Given the description of an element on the screen output the (x, y) to click on. 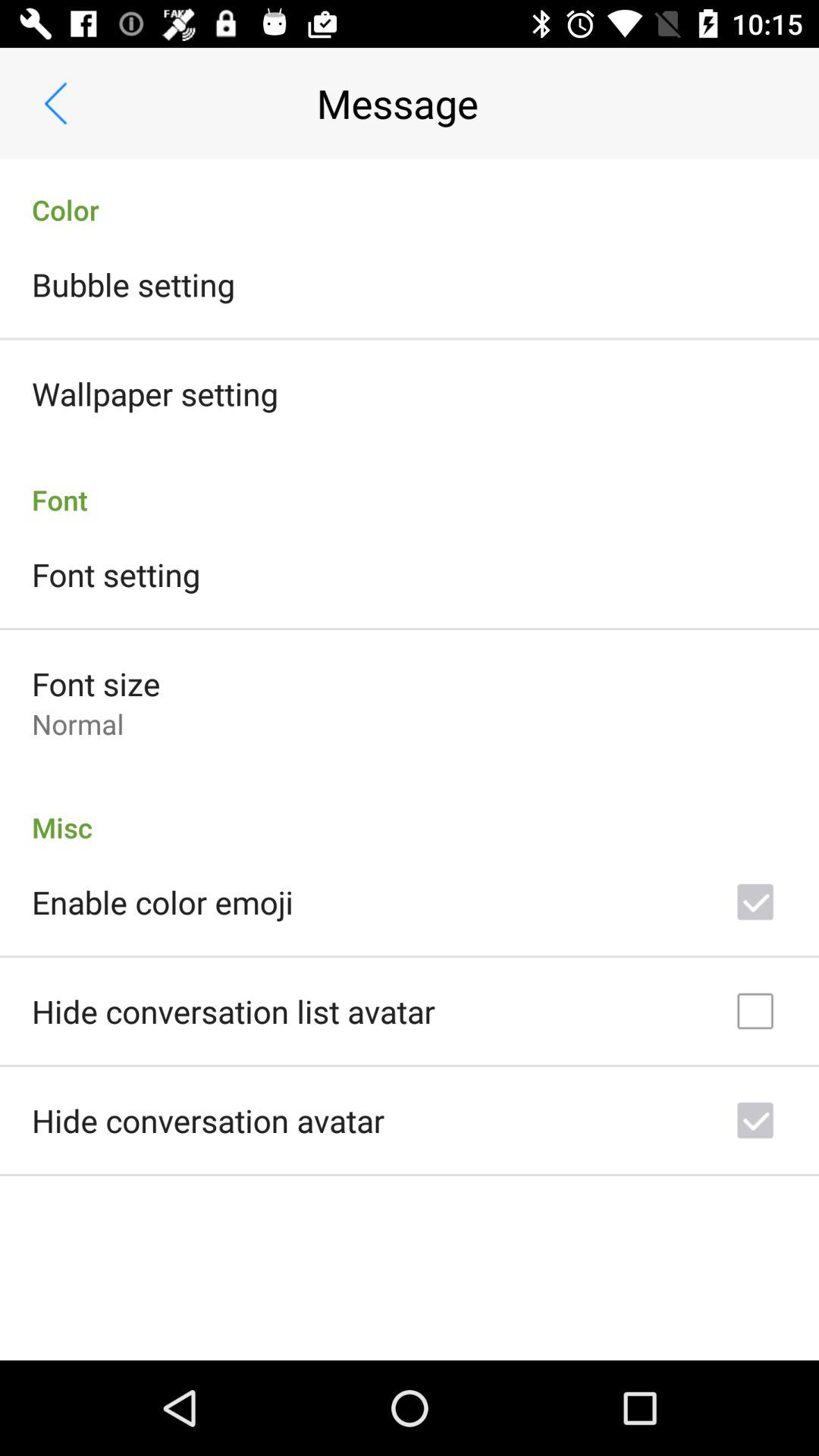
launch app next to the message (55, 103)
